Given the description of an element on the screen output the (x, y) to click on. 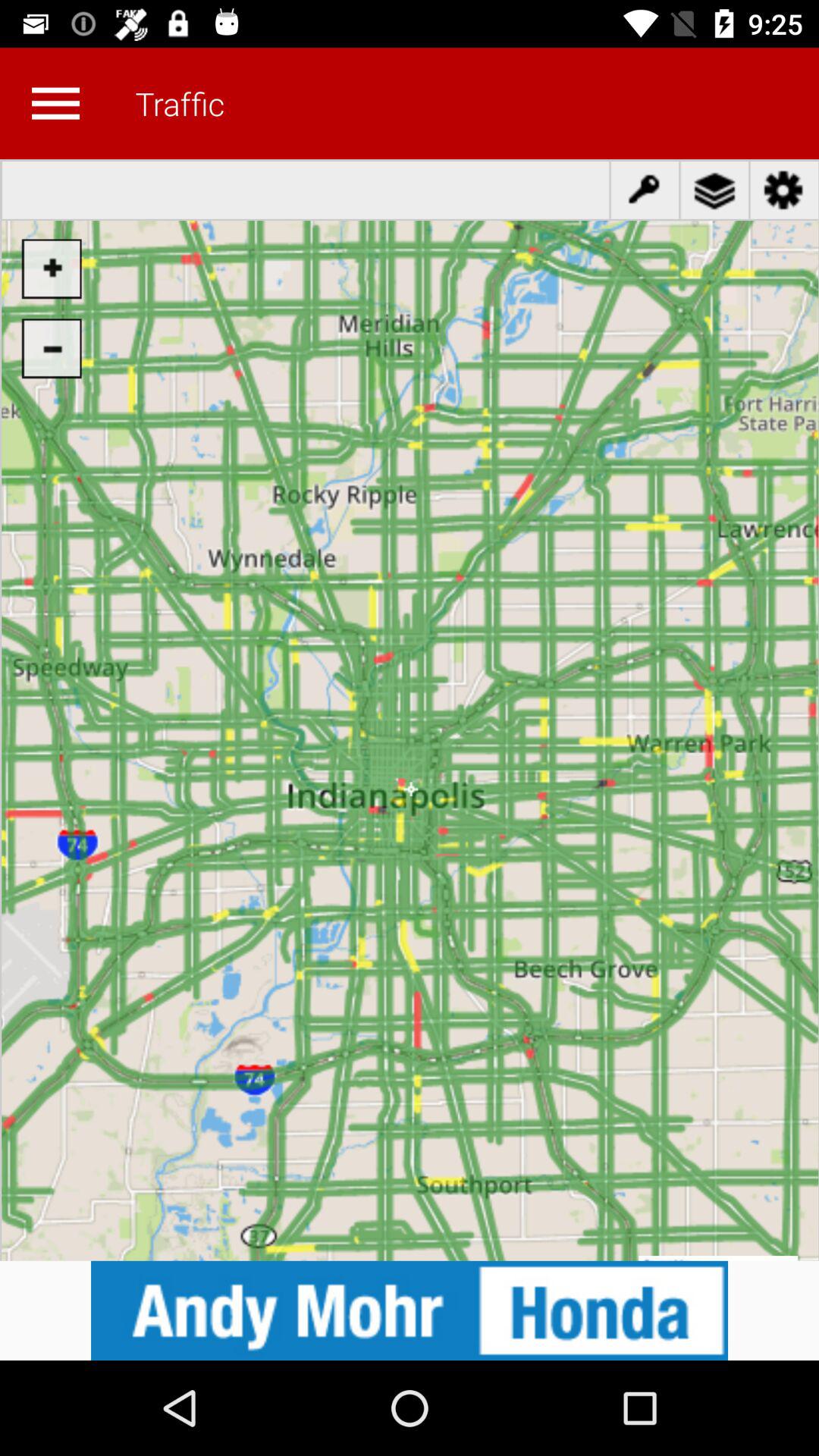
choose from menu (55, 103)
